Given the description of an element on the screen output the (x, y) to click on. 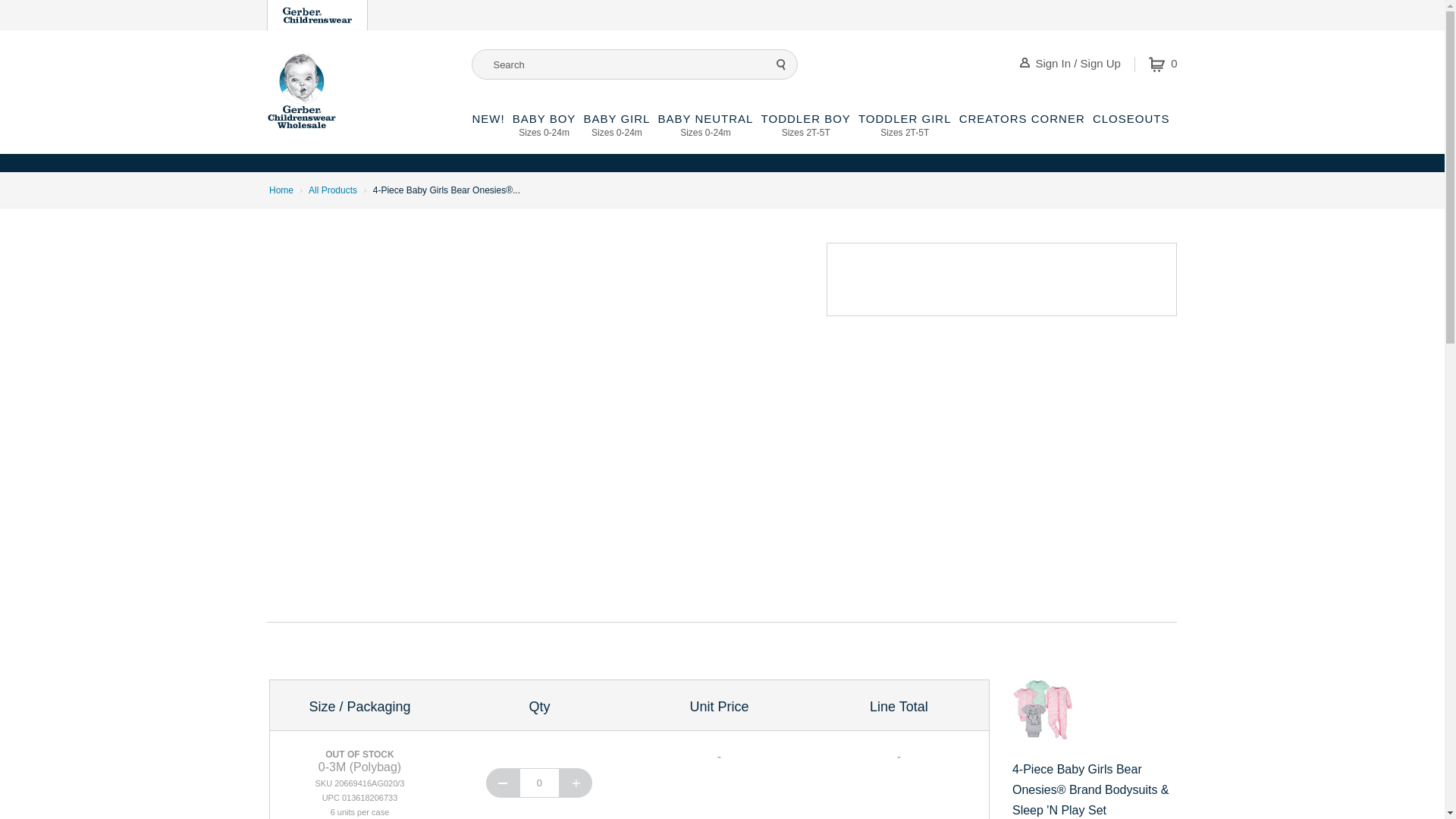
Search (616, 132)
0 (780, 64)
Home (539, 782)
Gerber Childrenswear (1162, 64)
